Given the description of an element on the screen output the (x, y) to click on. 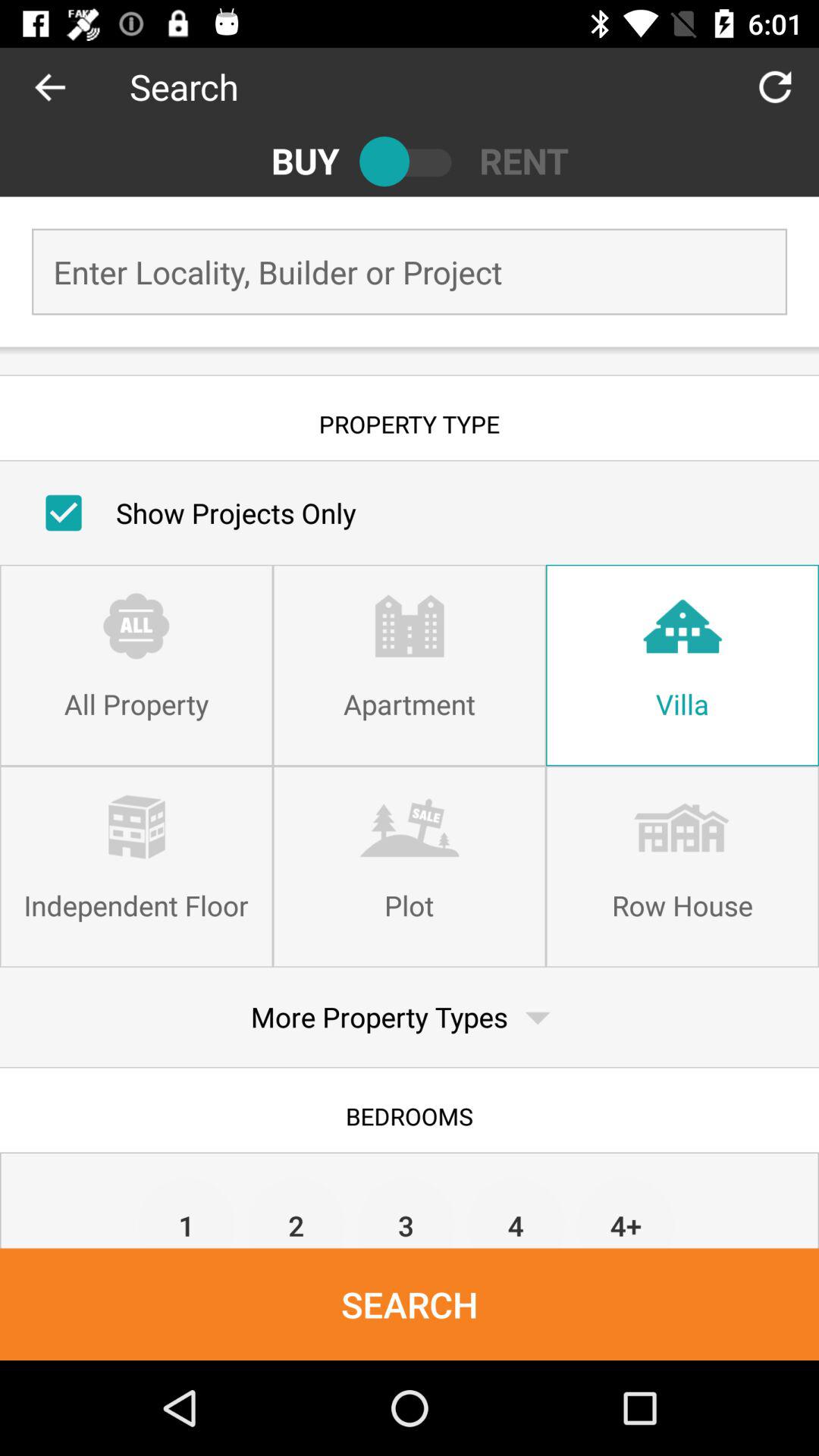
choose the icon next to the buy (409, 161)
